Given the description of an element on the screen output the (x, y) to click on. 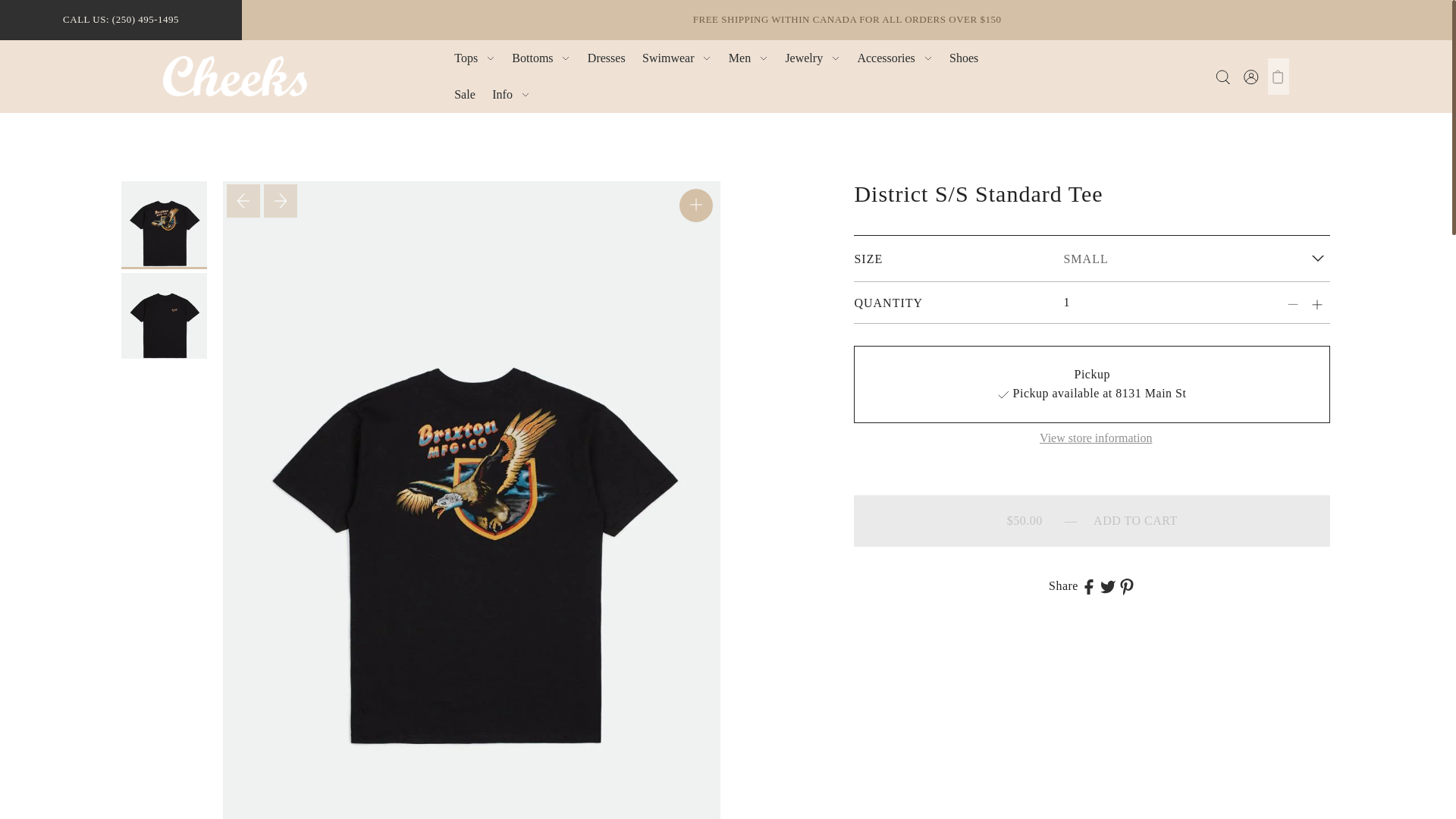
Bottoms (540, 58)
Tops (474, 58)
Swimwear (675, 58)
click to zoom-in (696, 205)
1 (1135, 301)
Dresses (605, 58)
